Given the description of an element on the screen output the (x, y) to click on. 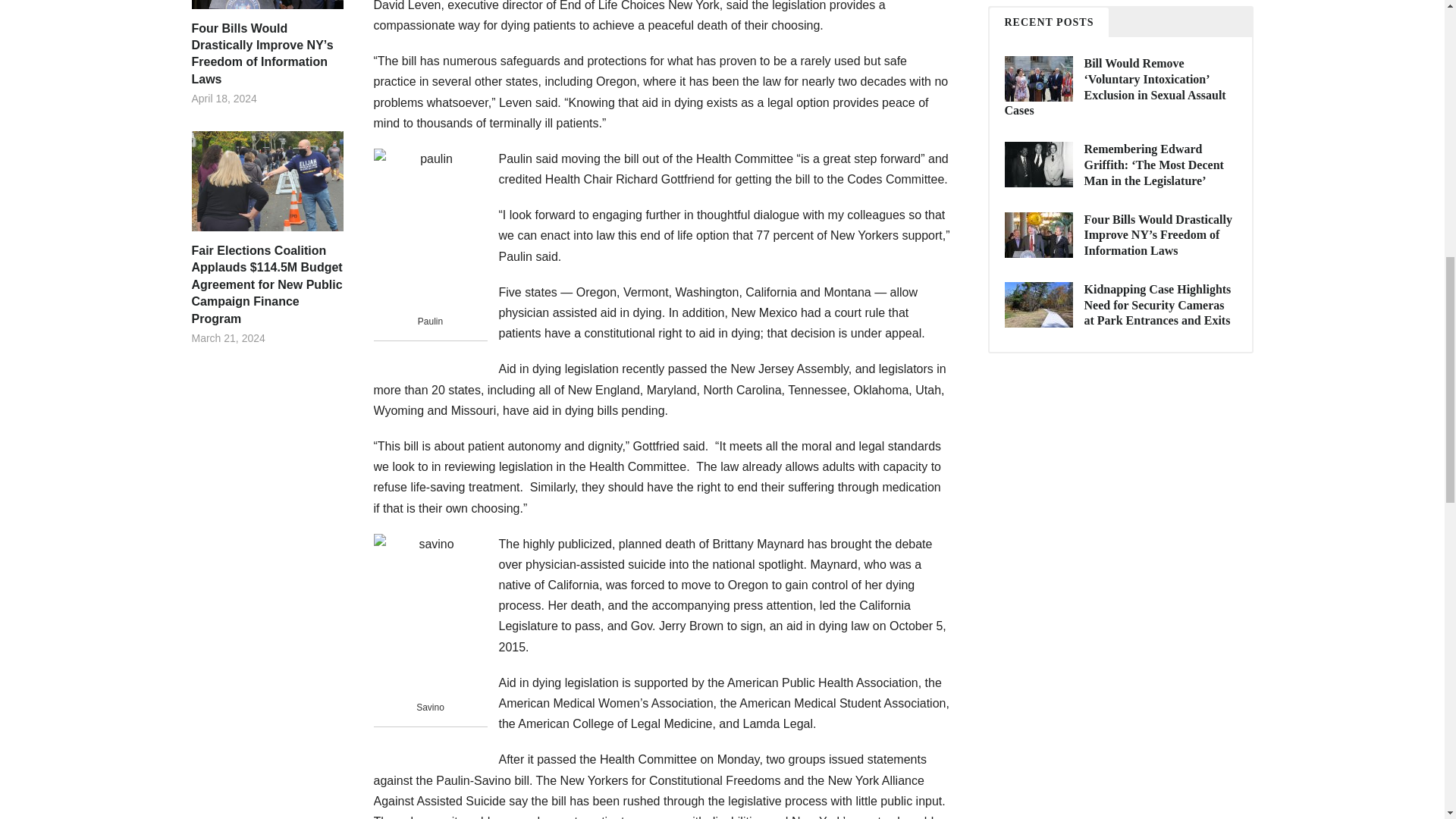
Recent Posts (1048, 21)
